Given the description of an element on the screen output the (x, y) to click on. 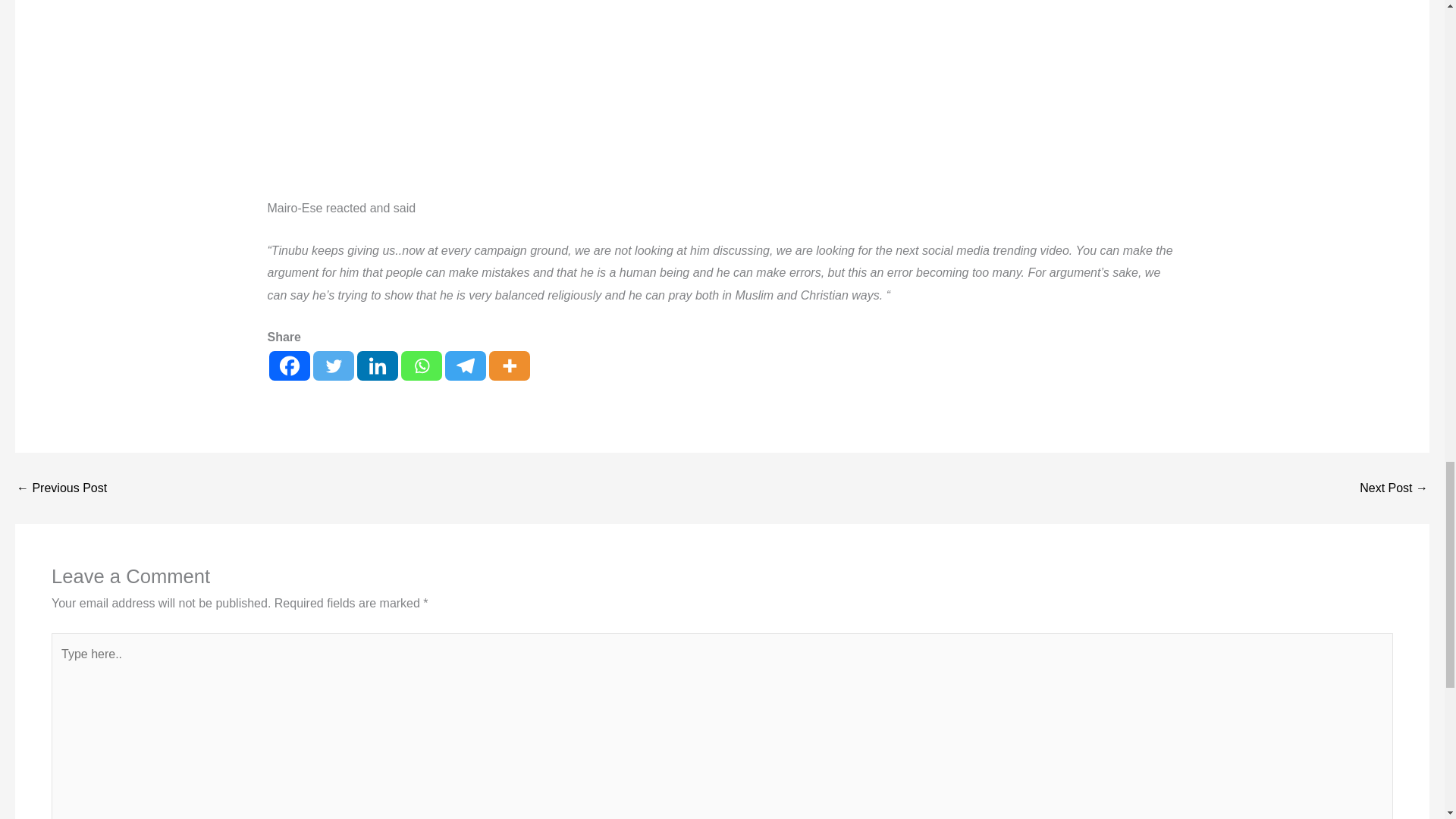
Linkedin (376, 365)
Facebook (287, 365)
Whatsapp (420, 365)
Telegram (464, 365)
More (508, 365)
Twitter (333, 365)
